Given the description of an element on the screen output the (x, y) to click on. 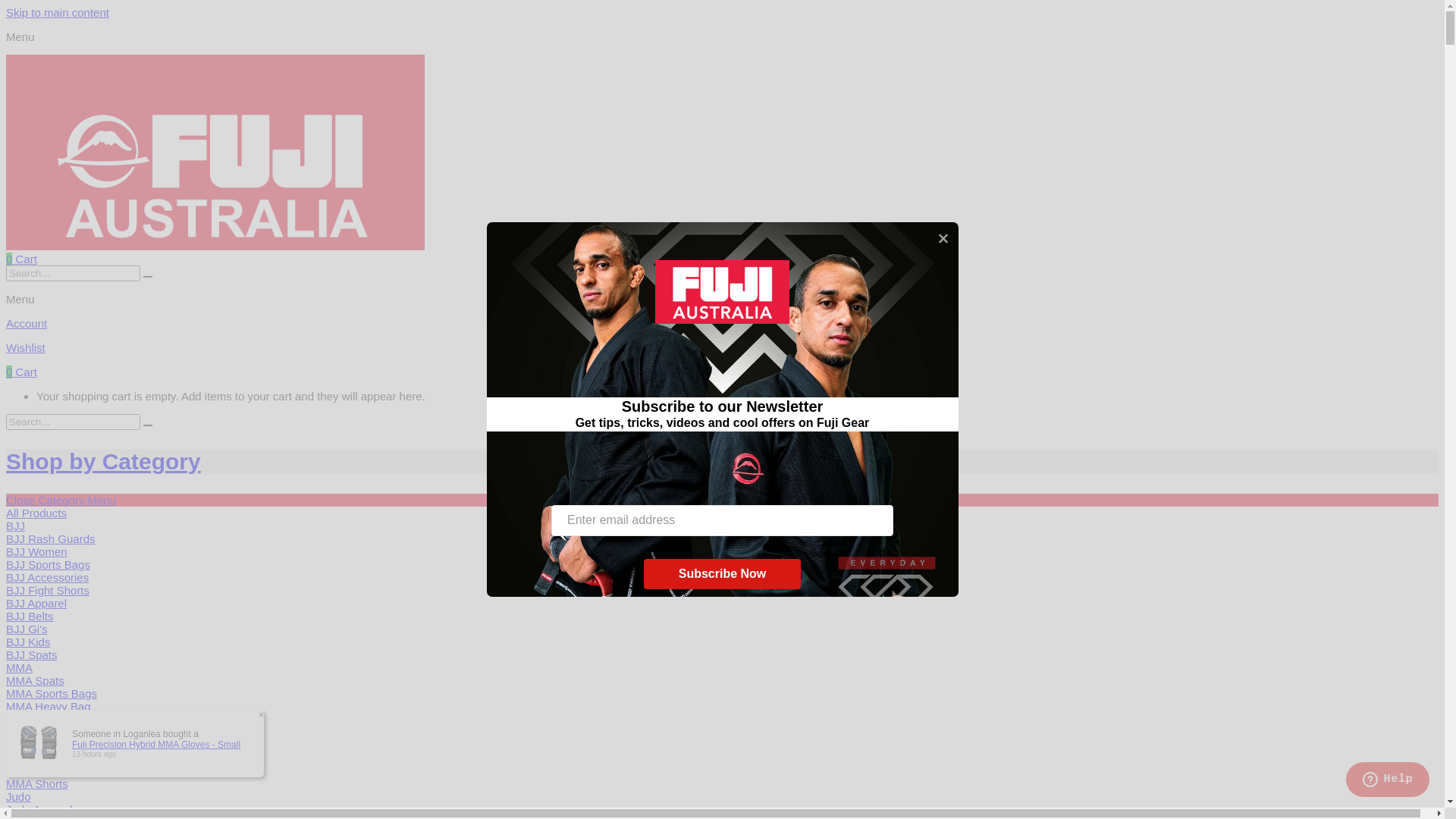
0 Cart Element type: text (21, 371)
BJJ Element type: text (15, 525)
BJJ Spats Element type: text (31, 654)
BJJ Fight Shorts Element type: text (47, 589)
0 Cart Element type: text (21, 258)
MMA Equipment Element type: text (47, 770)
Wishlist Element type: text (722, 347)
BJJ Accessories Element type: text (47, 577)
MMA Gloves Element type: text (38, 718)
Account Element type: text (722, 322)
BJJ Rash Guards Element type: text (50, 538)
Skip to main content Element type: text (57, 12)
All Products Element type: text (36, 512)
BJJ Belts Element type: text (29, 615)
Search Element type: text (147, 276)
BJJ Gi's Element type: text (26, 628)
MMA Apparel Element type: text (39, 731)
BJJ Kids Element type: text (28, 641)
Search Element type: text (147, 425)
BJJ Sports Bags Element type: text (48, 564)
BJJ Apparel Element type: text (36, 602)
Close Category Menu Element type: text (61, 499)
MMA Rash Guards Element type: text (54, 757)
MMA Accessories Element type: text (50, 744)
Judo Element type: text (18, 796)
Shop by Category Element type: text (103, 460)
Judo Apparel Element type: text (39, 809)
MMA Element type: text (19, 667)
MMA Sports Bags Element type: text (51, 693)
MMA Heavy Bag Element type: text (48, 705)
MMA Spats Element type: text (35, 680)
Opens a widget where you can chat to one of our agents Element type: hover (1387, 781)
MMA Shorts Element type: text (37, 783)
BJJ Women Element type: text (36, 551)
Fuji Sports Australia Element type: hover (215, 245)
